Given the description of an element on the screen output the (x, y) to click on. 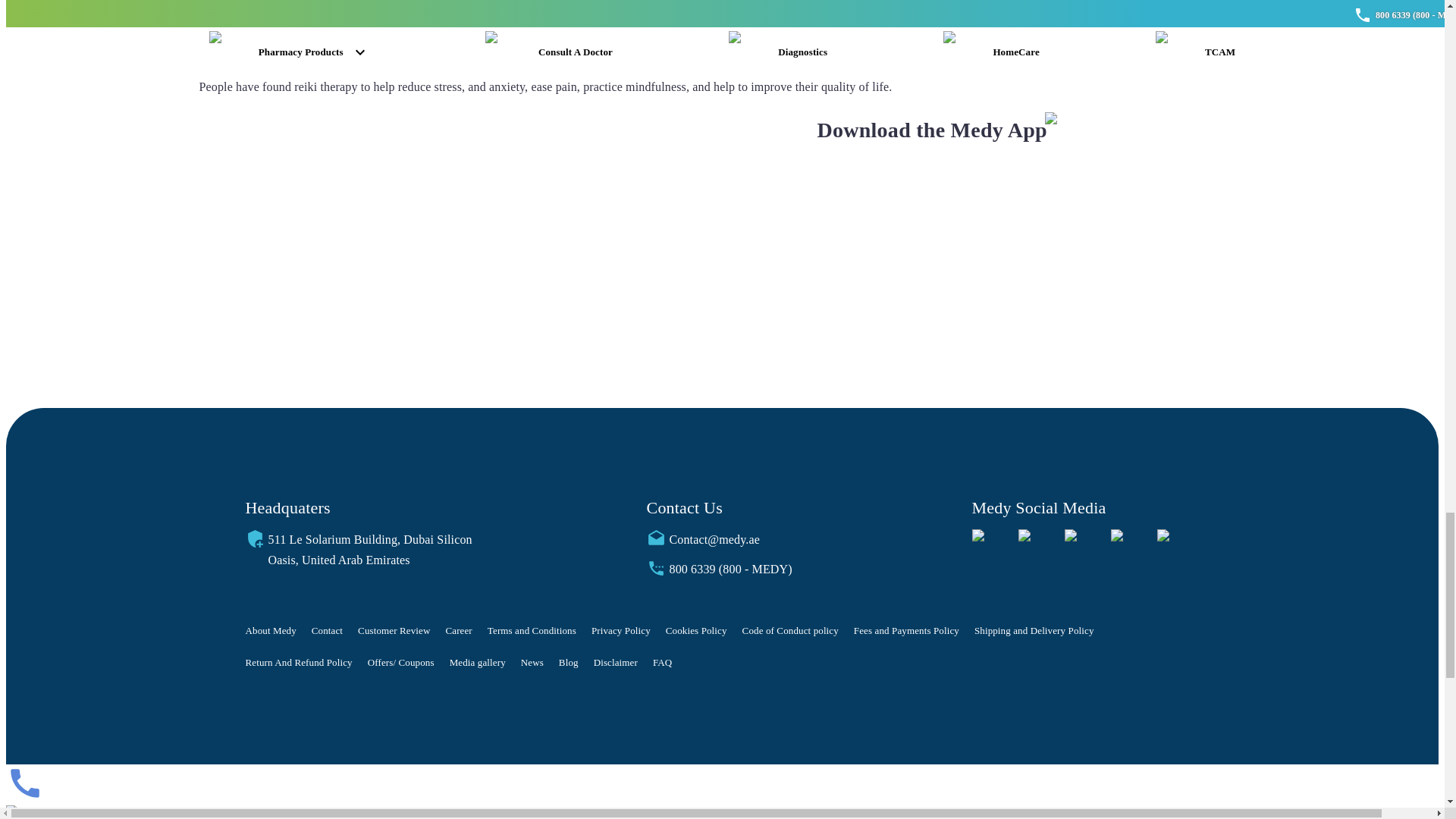
Contact (326, 630)
Career (458, 630)
Fees and Payments Policy (906, 630)
Privacy Policy (620, 630)
About Medy (271, 630)
Code of Conduct policy (790, 630)
Customer Review (393, 630)
Terms and Conditions (531, 630)
Shipping and Delivery Policy (1034, 630)
Return And Refund Policy (299, 662)
